Given the description of an element on the screen output the (x, y) to click on. 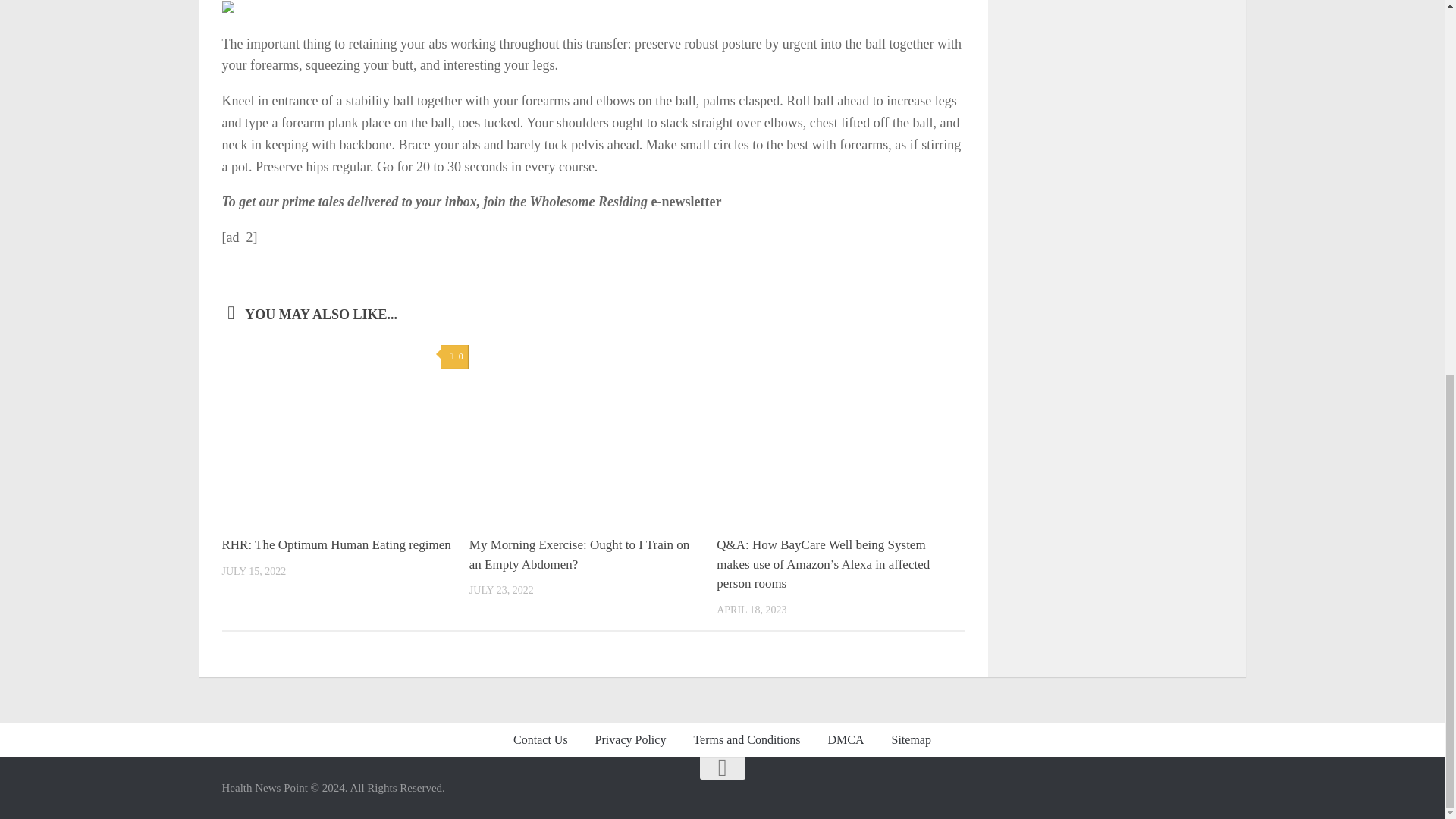
Contact Us (539, 739)
0 (454, 356)
RHR: The Optimum Human Eating regimen (335, 544)
My Morning Exercise: Ought to I Train on an Empty Abdomen? (578, 554)
Sitemap (910, 739)
Privacy Policy (629, 739)
Terms and Conditions (746, 739)
DMCA (845, 739)
